Given the description of an element on the screen output the (x, y) to click on. 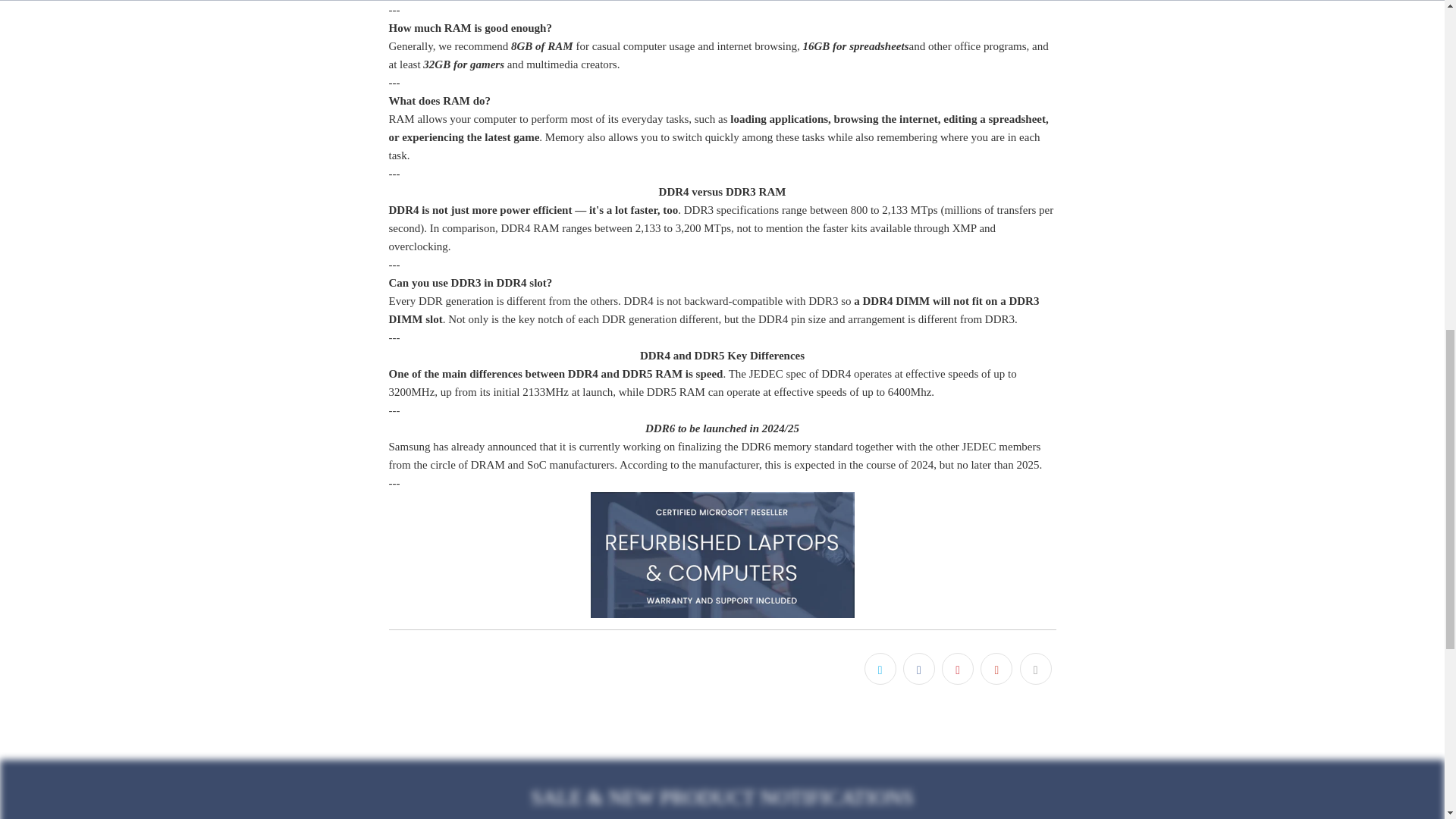
Share this on Twitter (880, 668)
Share this on Pinterest (958, 668)
Email this to a friend (1035, 668)
Share this on Facebook (918, 668)
